Given the description of an element on the screen output the (x, y) to click on. 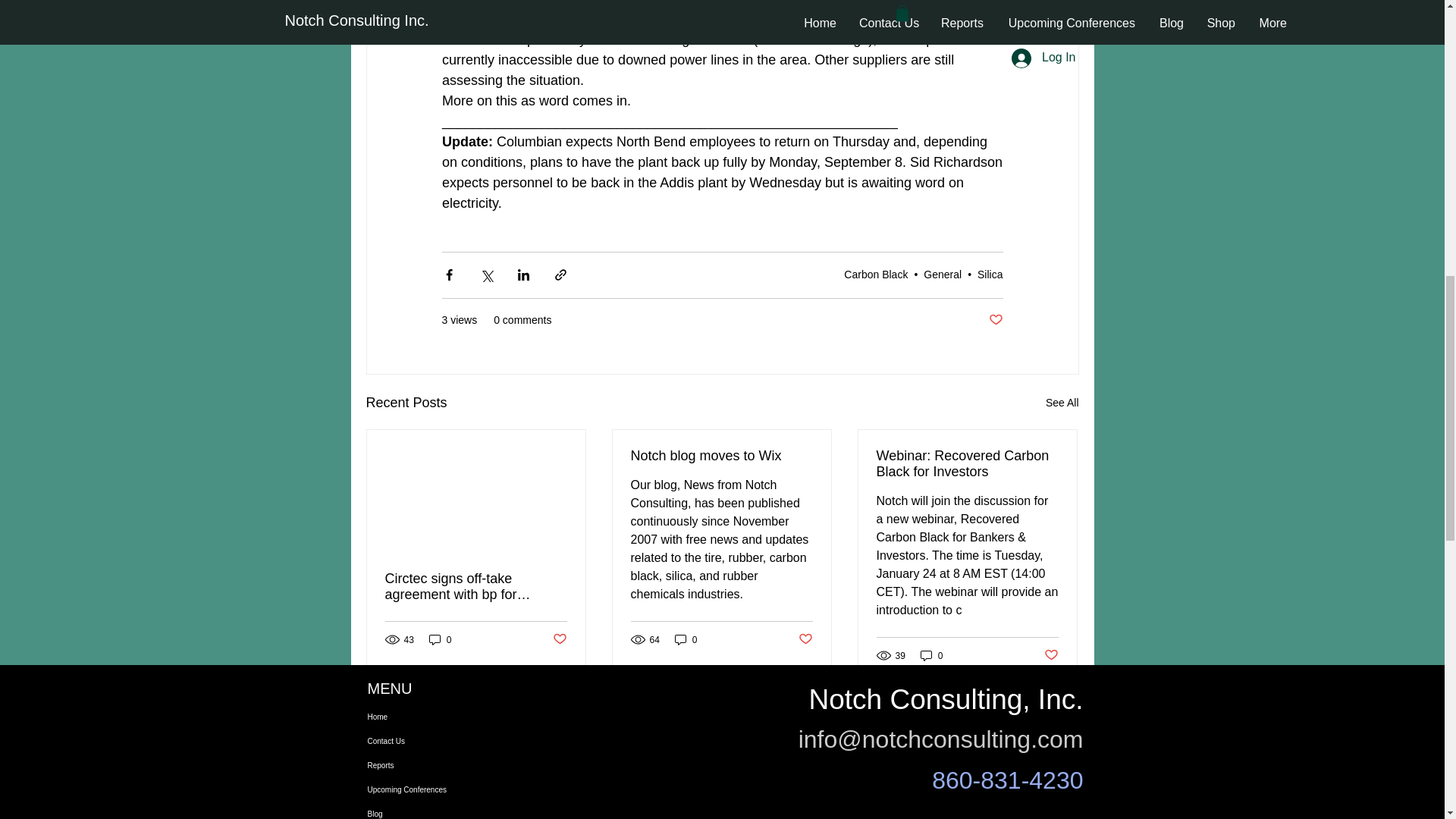
Carbon Black (875, 274)
